Given the description of an element on the screen output the (x, y) to click on. 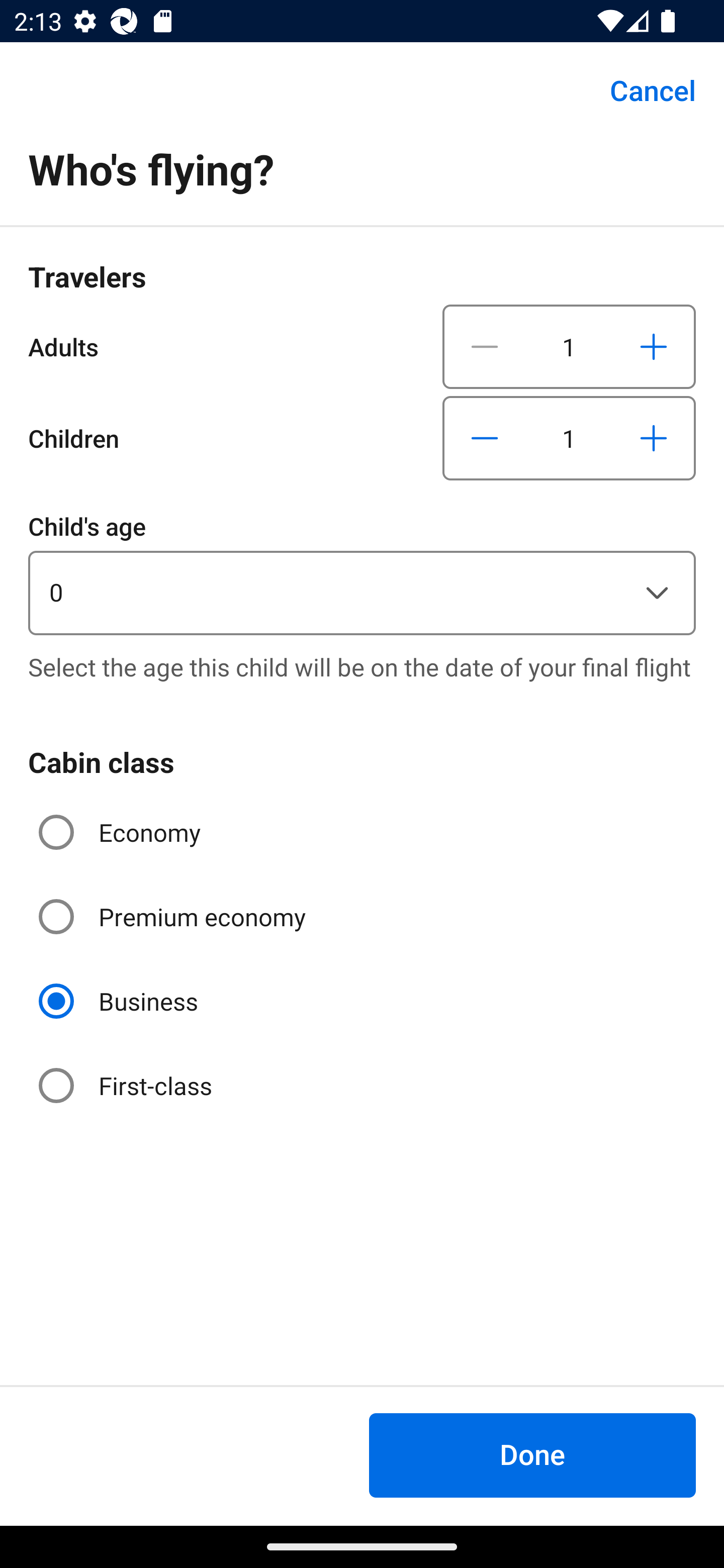
Cancel (641, 90)
Decrease (484, 346)
Increase (653, 346)
Decrease (484, 437)
Increase (653, 437)
Child's age
 Child's age 0 (361, 571)
Economy (121, 832)
Premium economy (174, 916)
Business (120, 1000)
First-class (126, 1084)
Done (532, 1454)
